Given the description of an element on the screen output the (x, y) to click on. 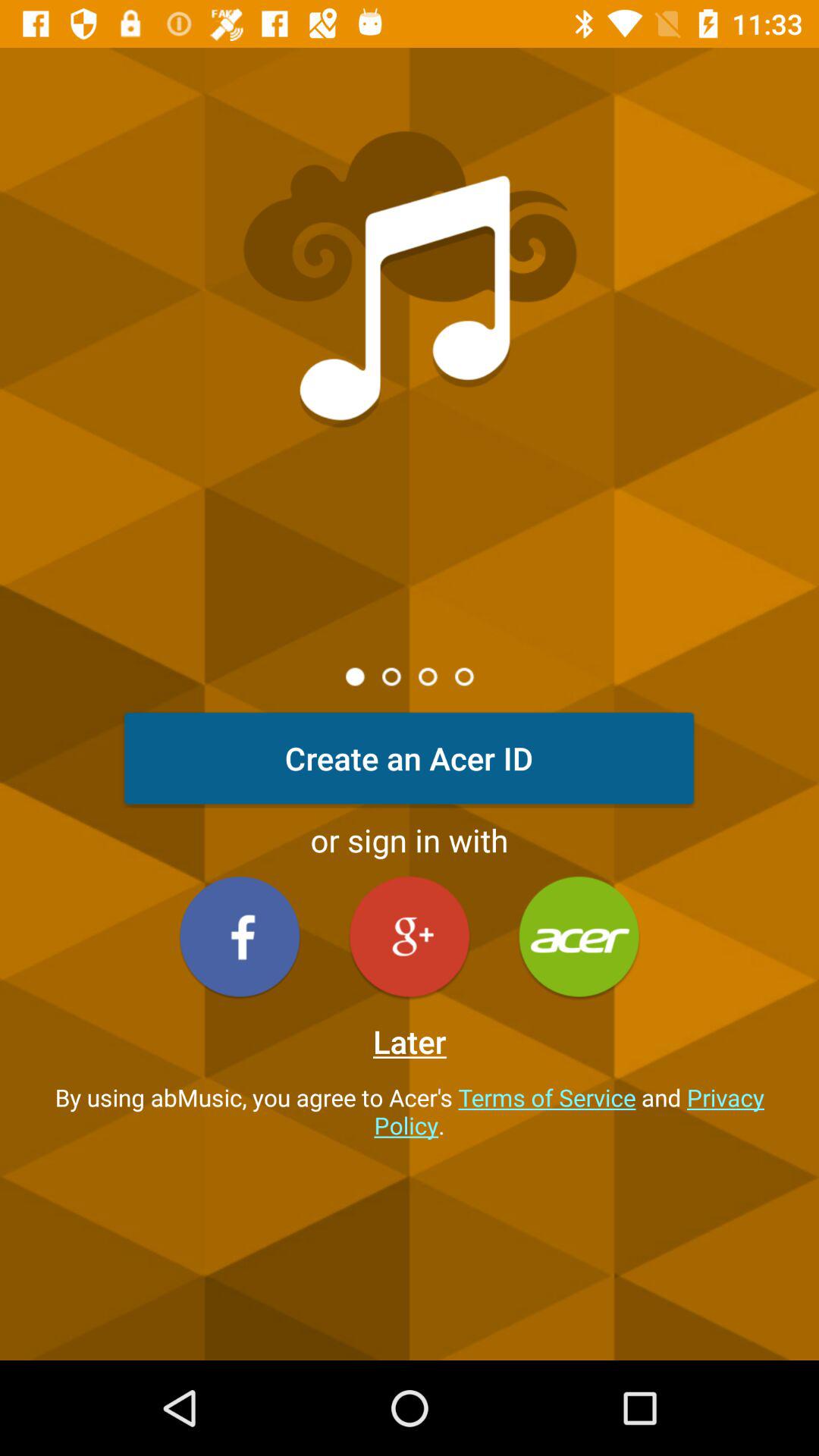
go to facebook (239, 936)
